Given the description of an element on the screen output the (x, y) to click on. 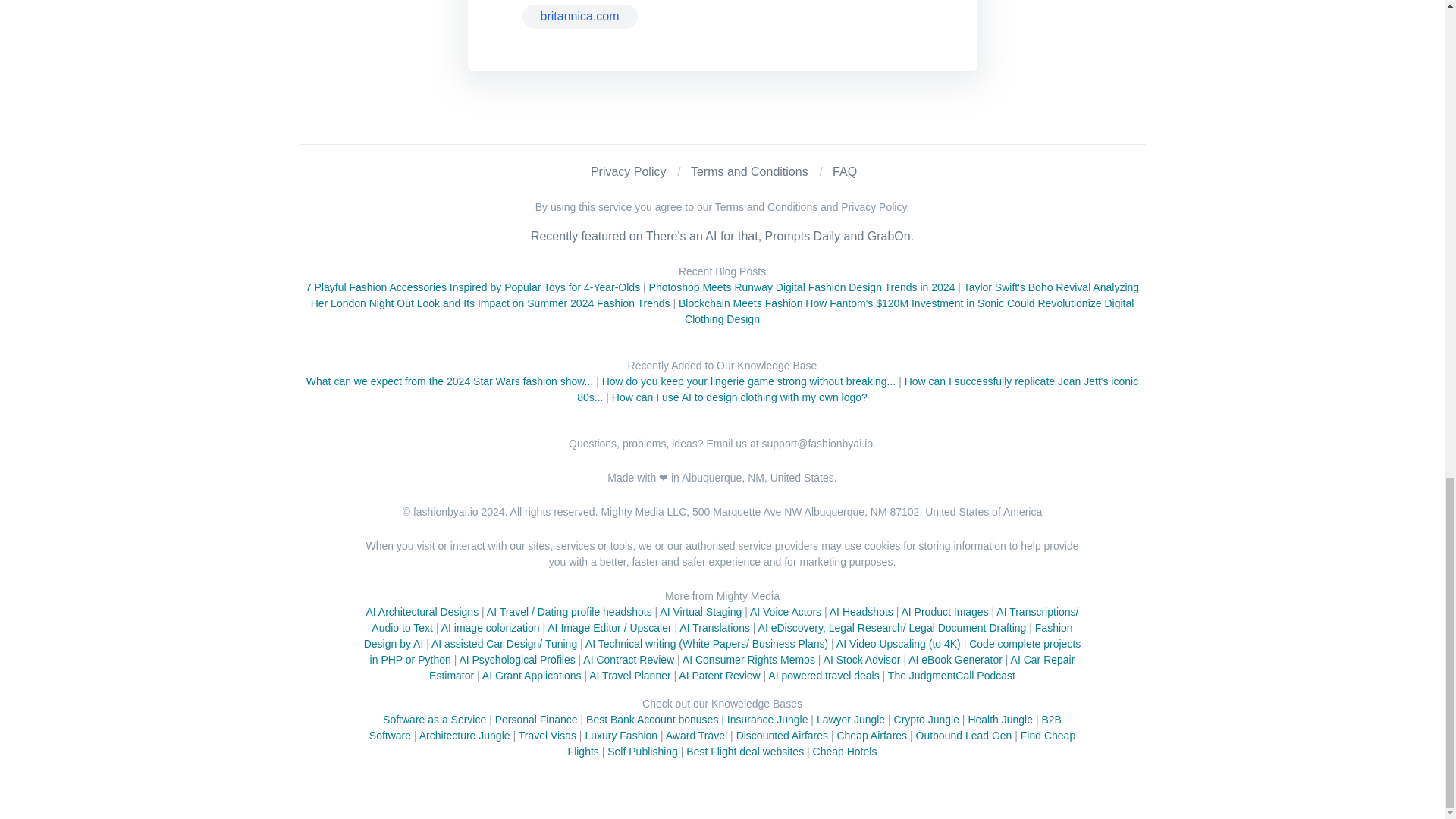
FAQ (844, 171)
Fashion Design by AI (718, 635)
AI Psychological Profiles (516, 659)
AI image colorization (490, 627)
AI Product Images (944, 612)
Code complete projects in PHP or Python (725, 651)
AI Voice Actors (785, 612)
Privacy Policy (628, 171)
